Given the description of an element on the screen output the (x, y) to click on. 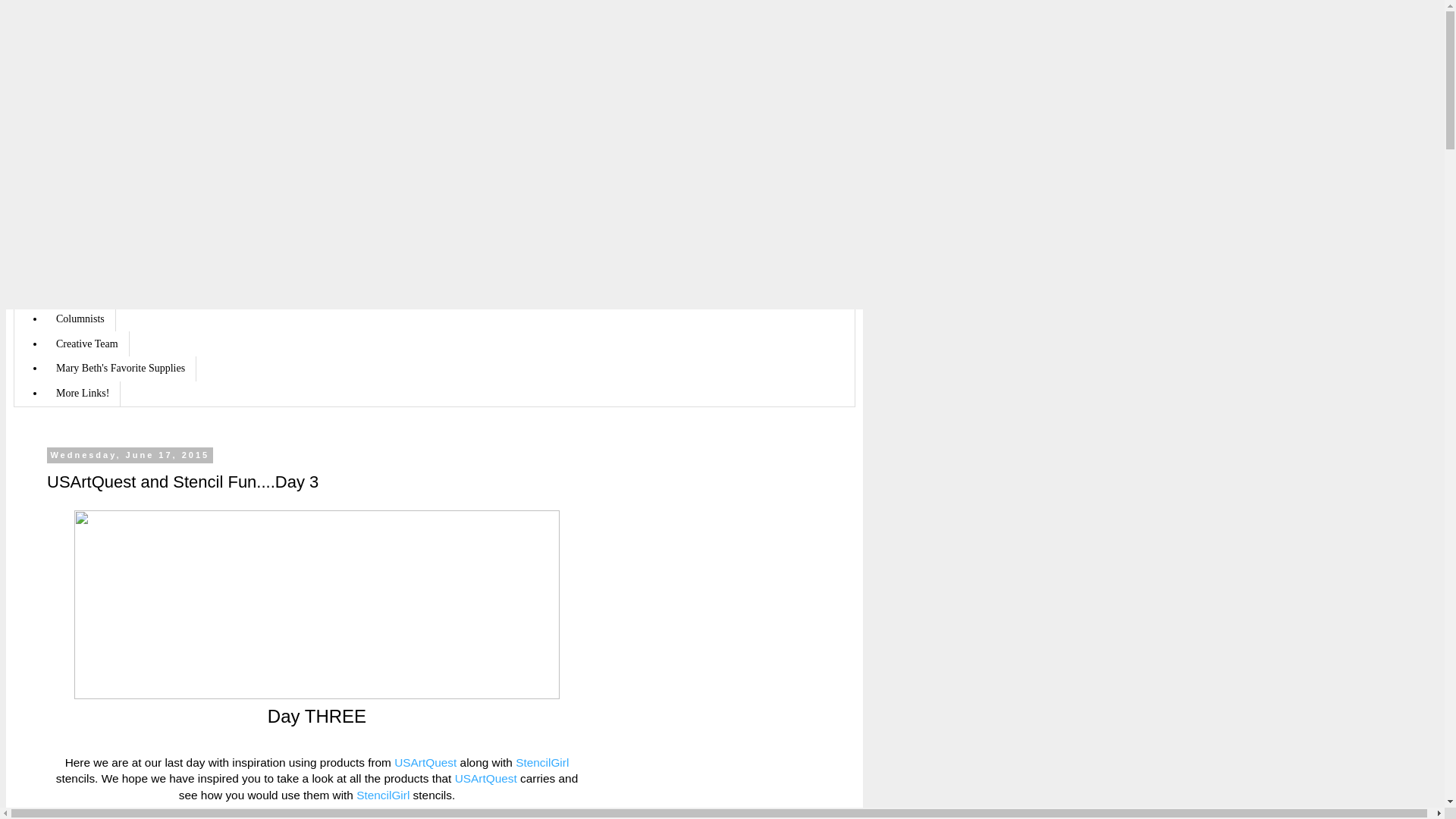
Angel Policy (84, 294)
StencilClub (81, 244)
More Links! (82, 393)
Shop (66, 219)
StencilGirl (382, 794)
The Scoop (79, 269)
Creative Team (87, 343)
Columnists (80, 318)
USArtQuest (425, 762)
Home (69, 195)
StencilGirl (542, 762)
Mary Beth's Favorite Supplies (120, 368)
USArtQuest (485, 778)
